Given the description of an element on the screen output the (x, y) to click on. 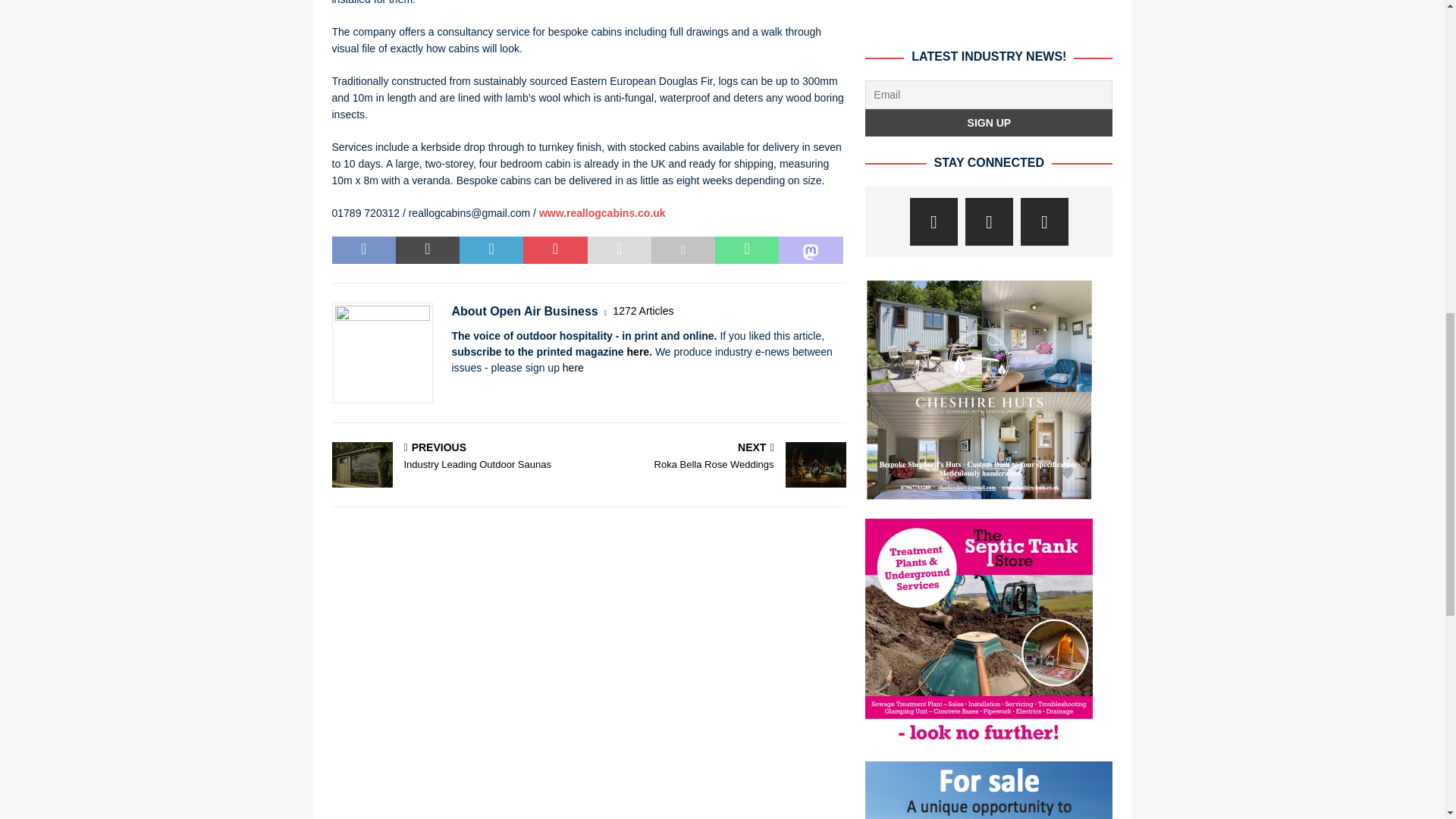
Pin This Post (554, 249)
Share On Mastodon (810, 249)
Share on LinkedIn (491, 249)
Print this article (682, 249)
Share on Facebook (363, 249)
www.reallogcabins.co.uk (601, 213)
Tweet This Post (428, 249)
Sign Up (988, 122)
More articles written by Open Air Business' (642, 311)
Share on Whatsapp (746, 249)
